Given the description of an element on the screen output the (x, y) to click on. 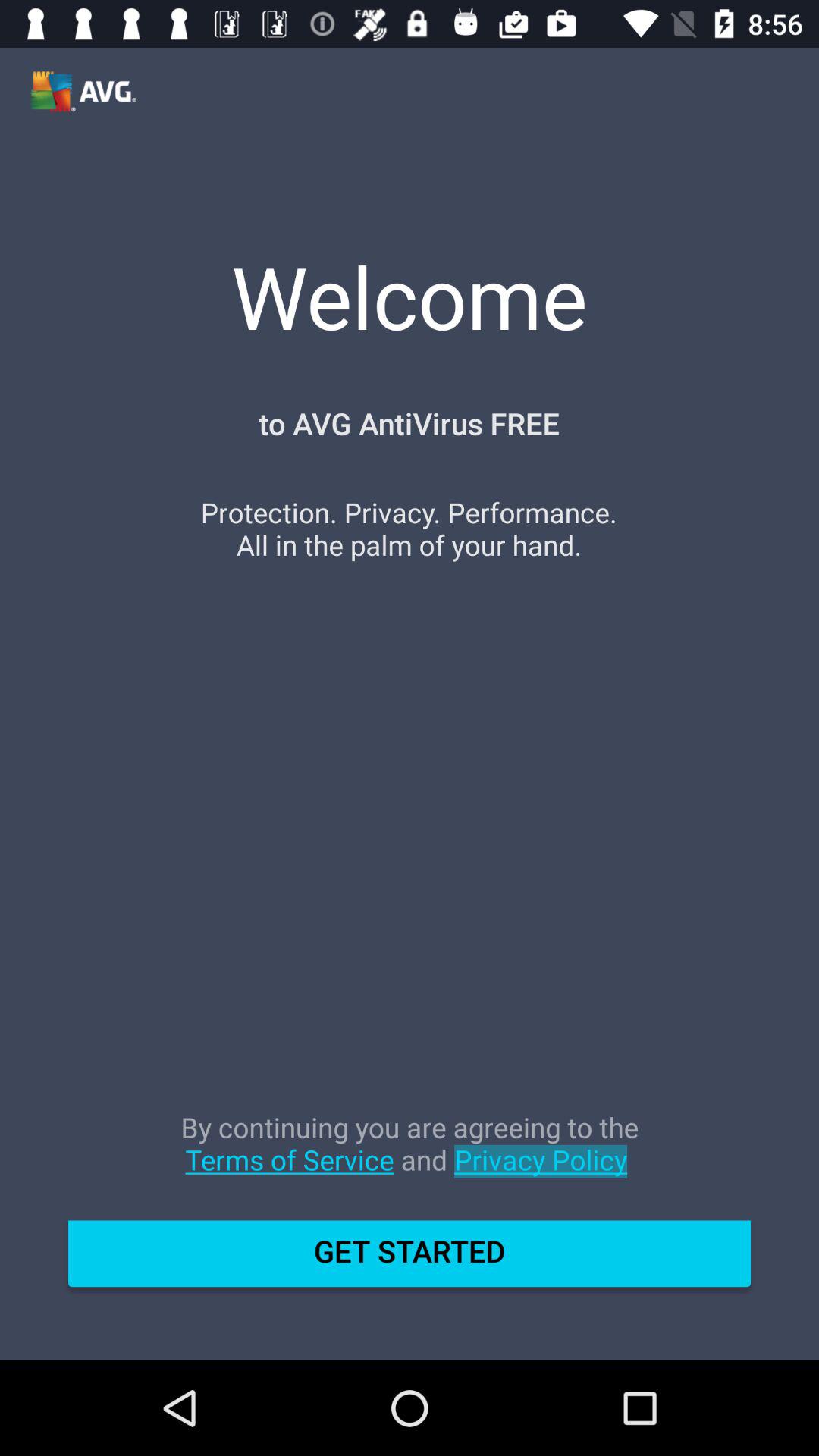
choose the by continuing you icon (409, 1159)
